Given the description of an element on the screen output the (x, y) to click on. 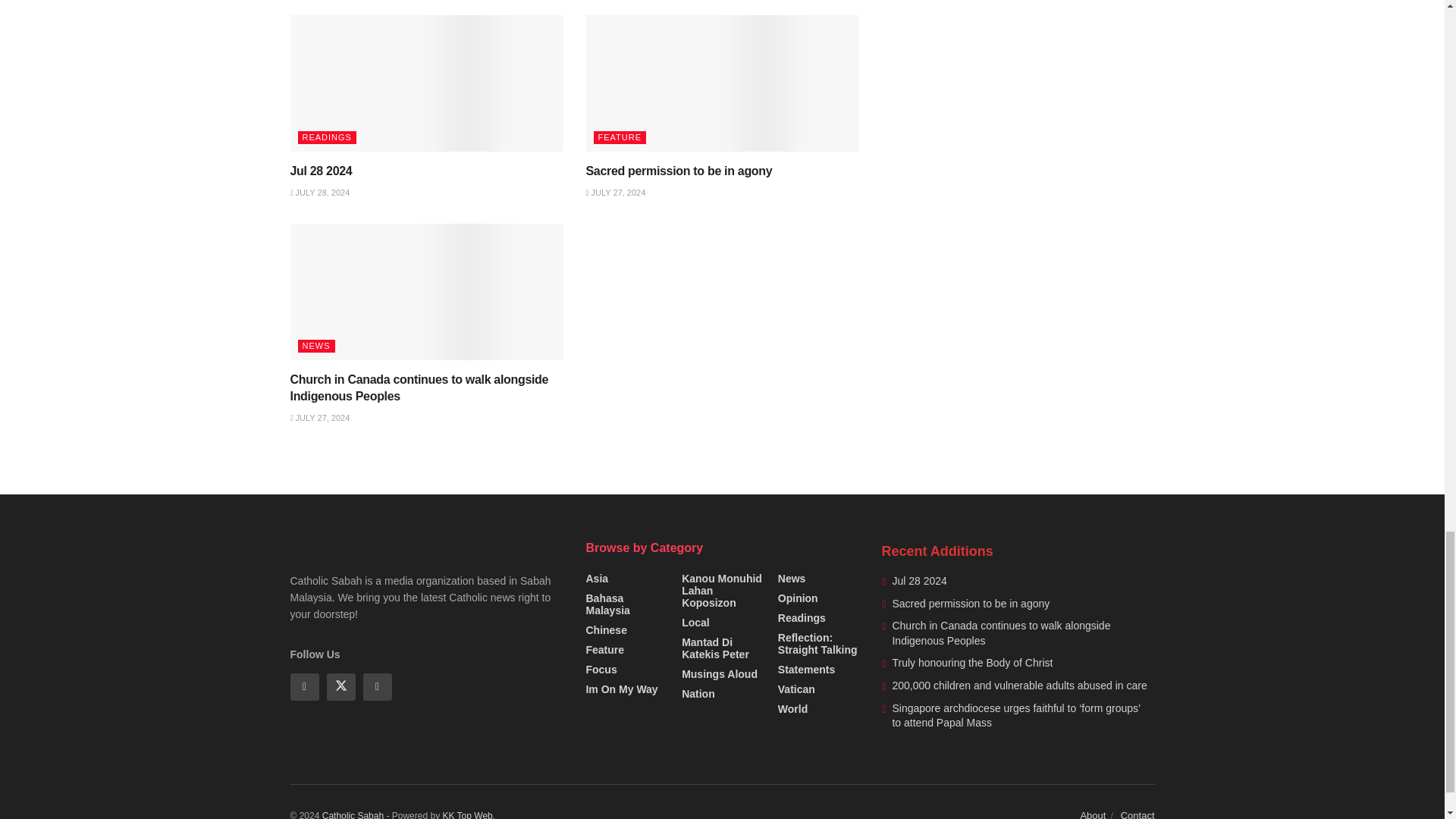
Jegtheme (467, 814)
Catholic Sabah (352, 814)
